Given the description of an element on the screen output the (x, y) to click on. 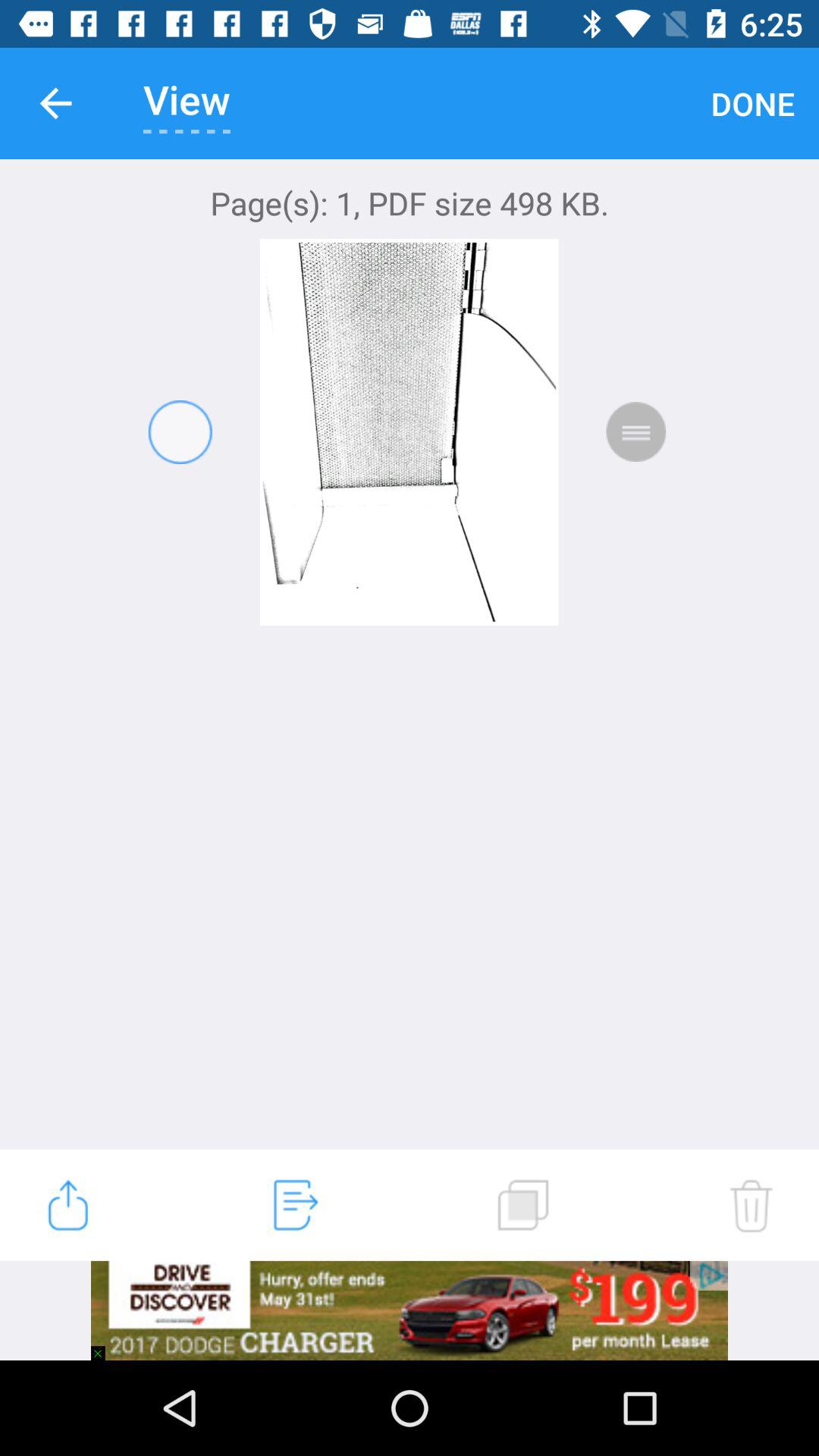
select the icon above page s 1 (55, 103)
